Given the description of an element on the screen output the (x, y) to click on. 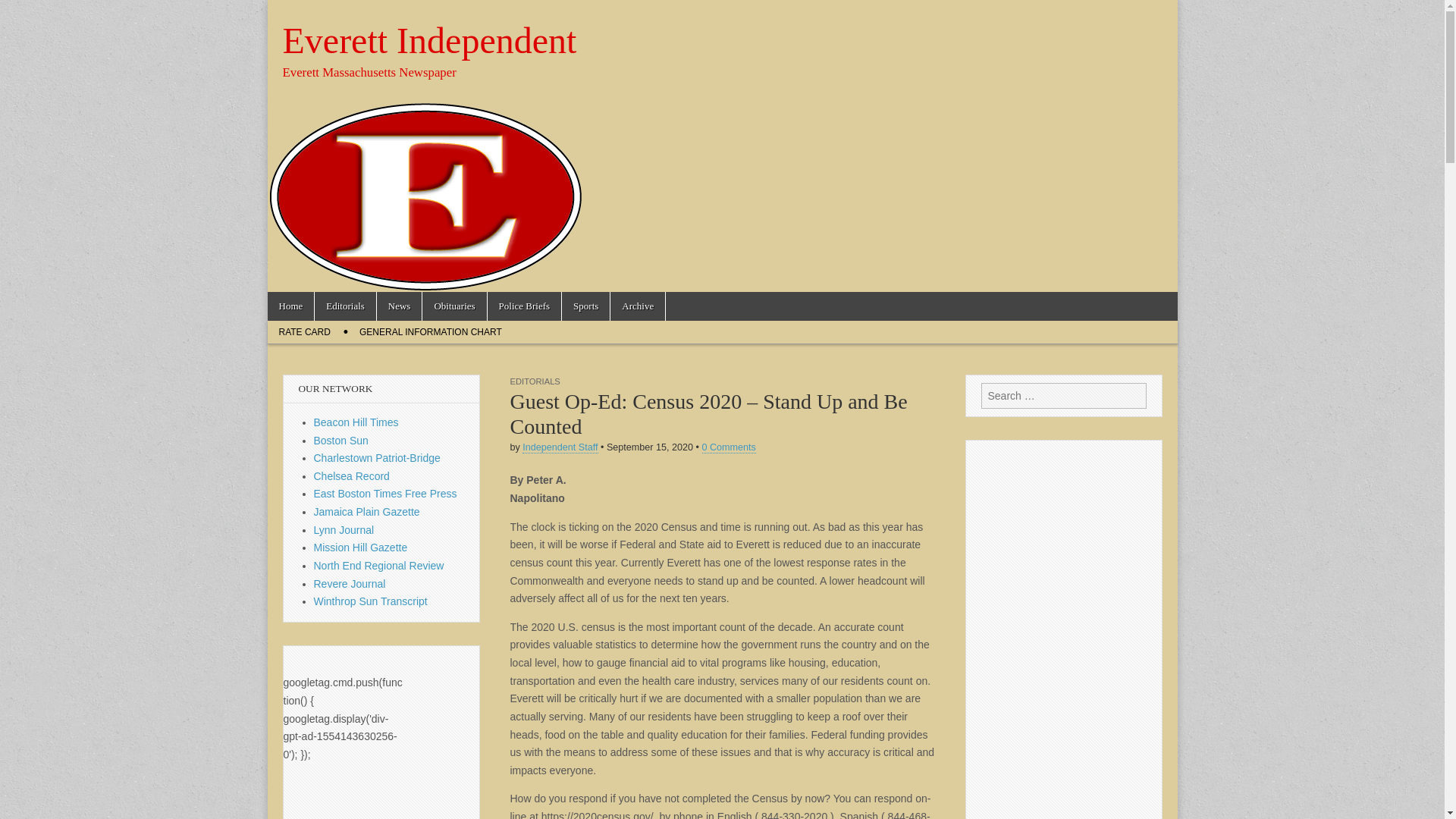
GENERAL INFORMATION CHART (430, 332)
Charlestown Patriot-Bridge (377, 458)
North End Regional Review (379, 565)
Lynn Journal (344, 530)
Everett Independent (429, 40)
News (399, 306)
Sports (586, 306)
Obituaries (454, 306)
Police Briefs (524, 306)
RATE CARD (303, 332)
EDITORIALS (534, 380)
Independent Staff (559, 447)
East Boston Times Free Press (385, 493)
Revere Journal (349, 583)
